Given the description of an element on the screen output the (x, y) to click on. 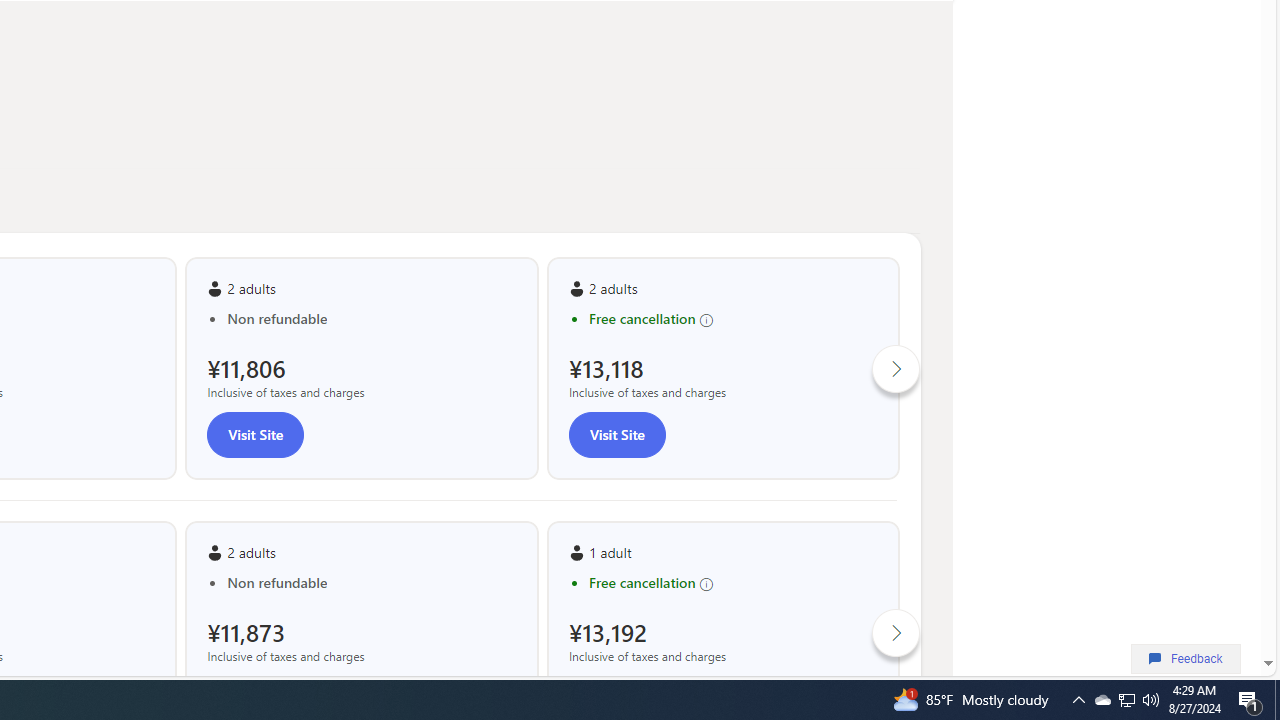
Non refundable (371, 582)
Click to scroll right (896, 631)
Free cancellation (733, 582)
Visit Site (616, 434)
